Given the description of an element on the screen output the (x, y) to click on. 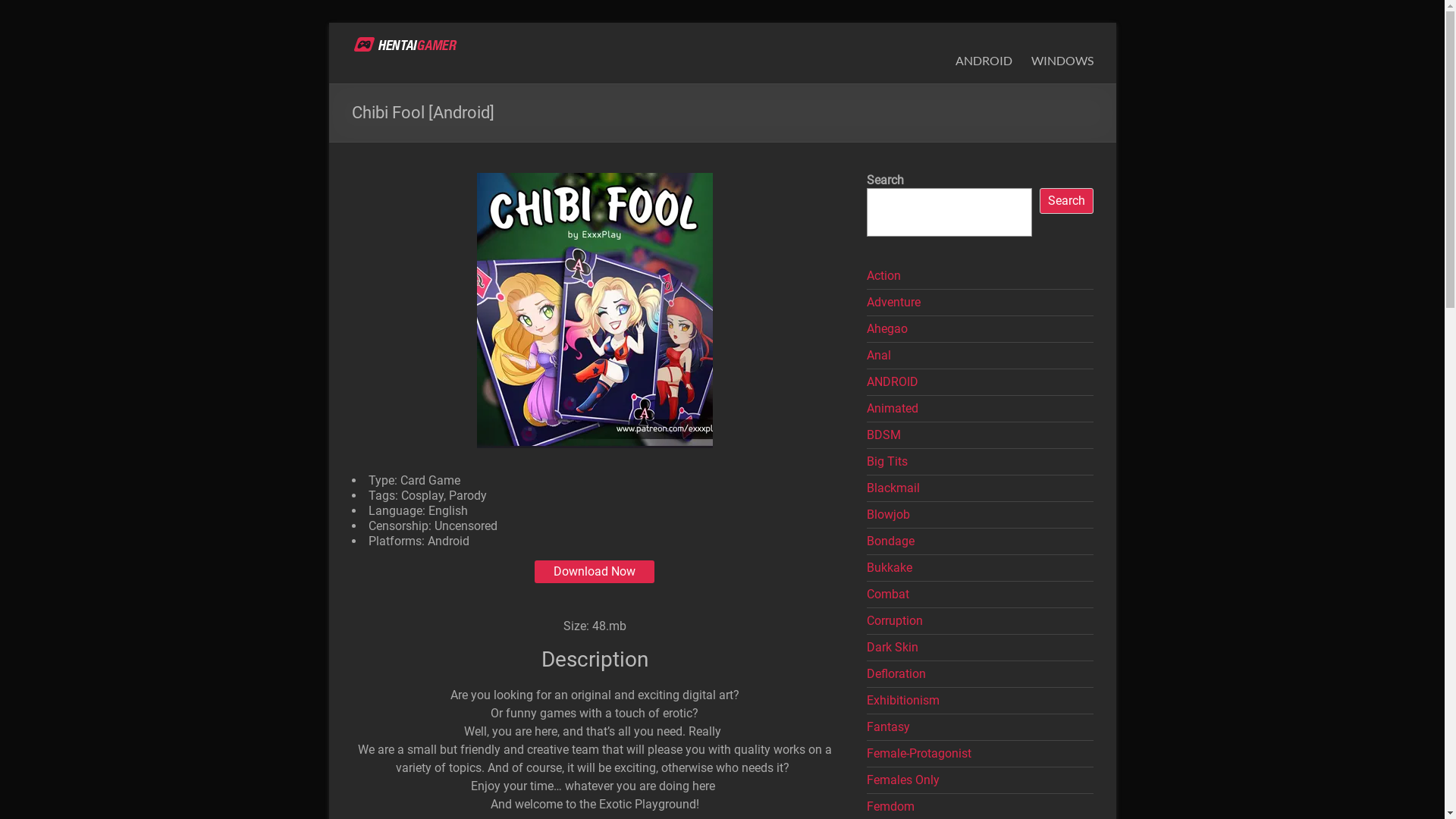
Females Only Element type: text (902, 779)
HentaiGamer Element type: text (431, 54)
Female-Protagonist Element type: text (918, 753)
Search Element type: text (1065, 200)
Adventure Element type: text (893, 301)
Dark Skin Element type: text (892, 647)
WINDOWS Element type: text (1062, 60)
Animated Element type: text (892, 408)
Skip to content Element type: text (327, 21)
Anal Element type: text (878, 355)
Corruption Element type: text (894, 620)
Defloration Element type: text (895, 673)
Download Now Element type: text (594, 571)
Blackmail Element type: text (892, 487)
Action Element type: text (883, 275)
Blowjob Element type: text (888, 514)
Bondage Element type: text (890, 540)
ANDROID Element type: text (983, 60)
Big Tits Element type: text (886, 461)
Download Now Element type: text (594, 571)
Fantasy Element type: text (888, 726)
Smile :) Element type: hover (792, 759)
Smile :) Element type: hover (724, 722)
Ahegao Element type: text (886, 328)
BDSM Element type: text (883, 434)
ANDROID Element type: text (892, 381)
Exhibitionism Element type: text (902, 700)
Wink ;) Element type: hover (718, 777)
Bukkake Element type: text (889, 567)
Femdom Element type: text (890, 806)
Combat Element type: text (887, 593)
